Given the description of an element on the screen output the (x, y) to click on. 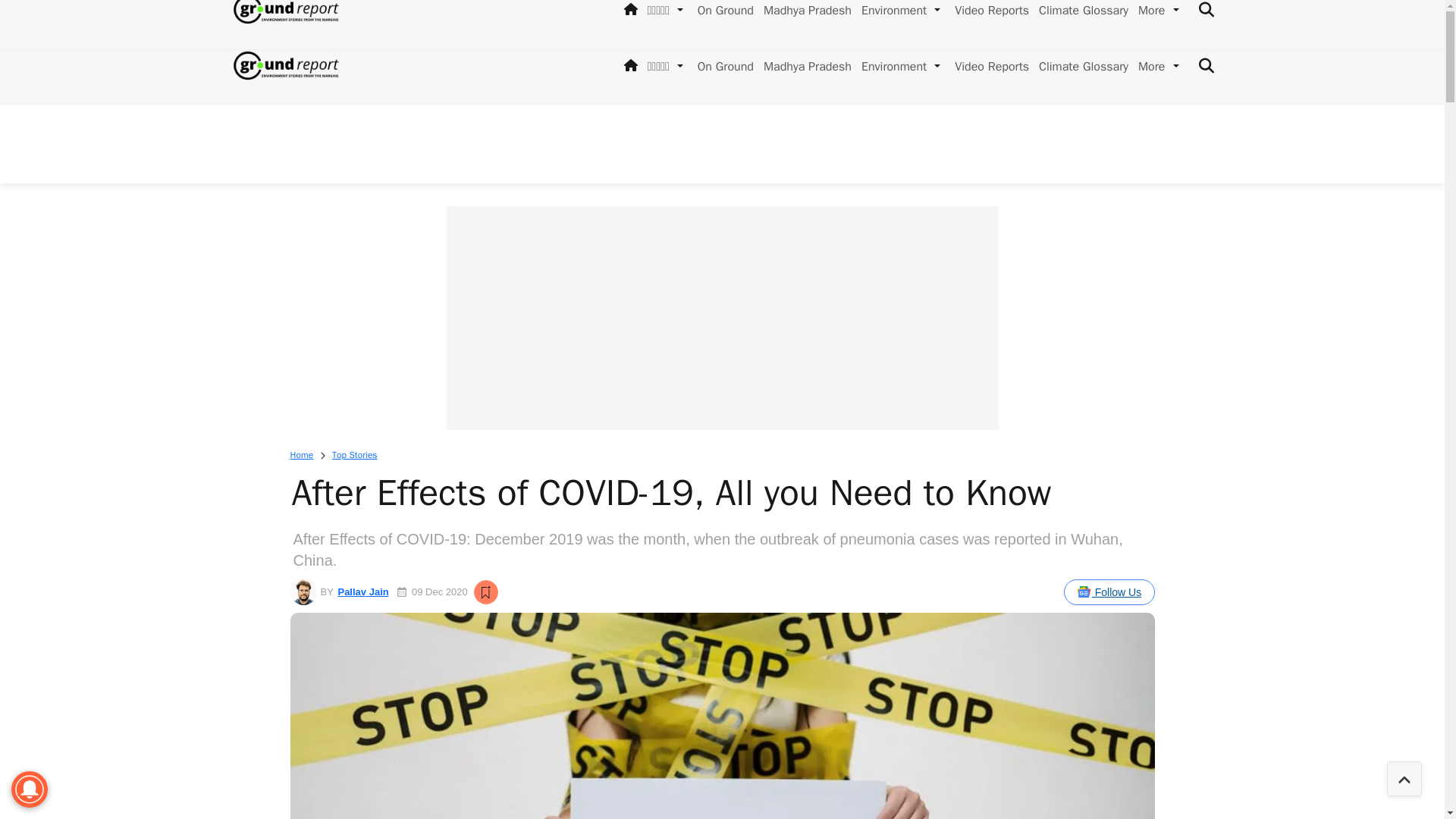
Madhya Pradesh (804, 66)
Environment (891, 66)
Climate Glossary (1080, 66)
Video Reports (989, 66)
On Ground (722, 66)
